Given the description of an element on the screen output the (x, y) to click on. 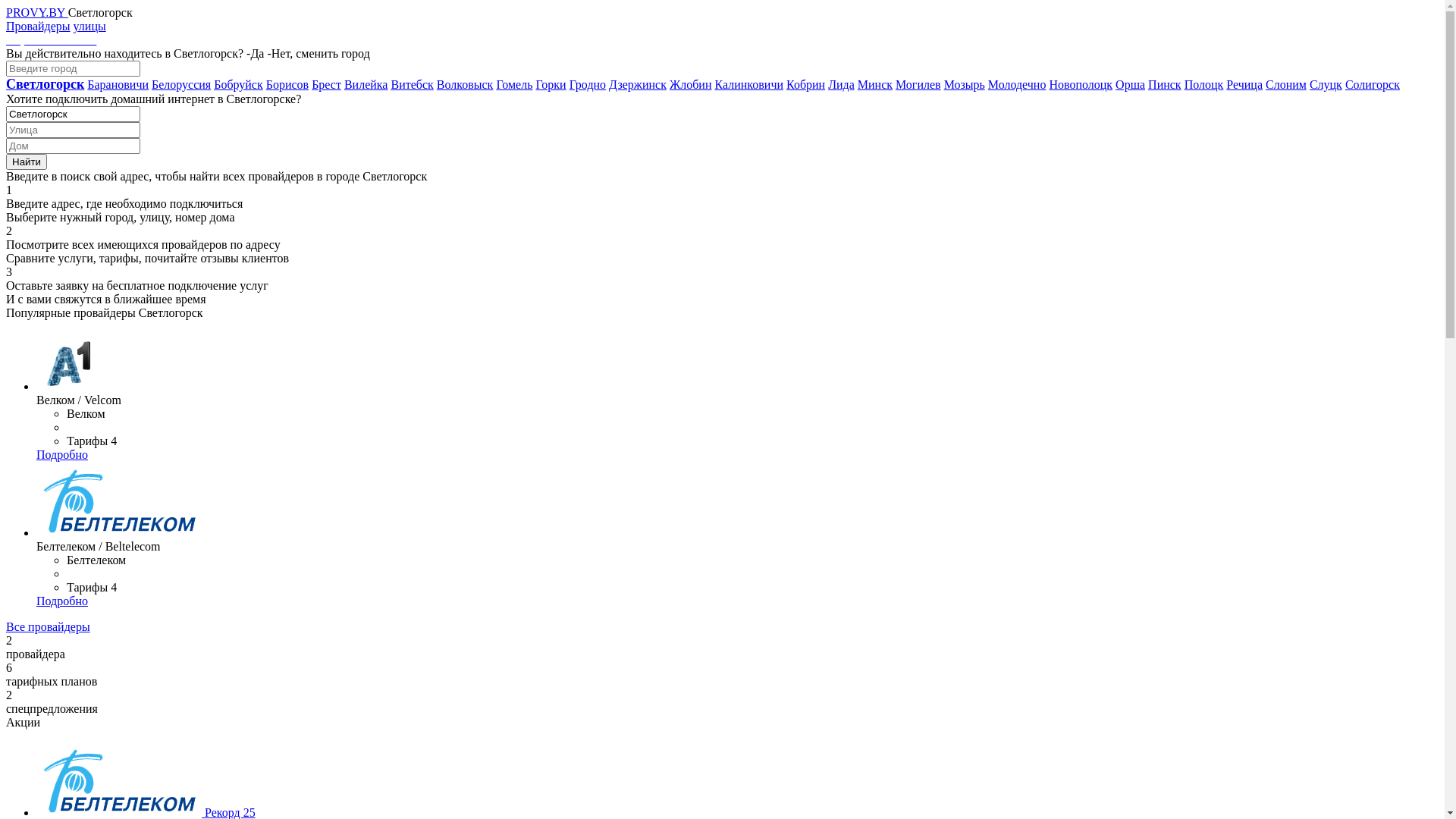
PROVY.BY Element type: text (37, 12)
